Given the description of an element on the screen output the (x, y) to click on. 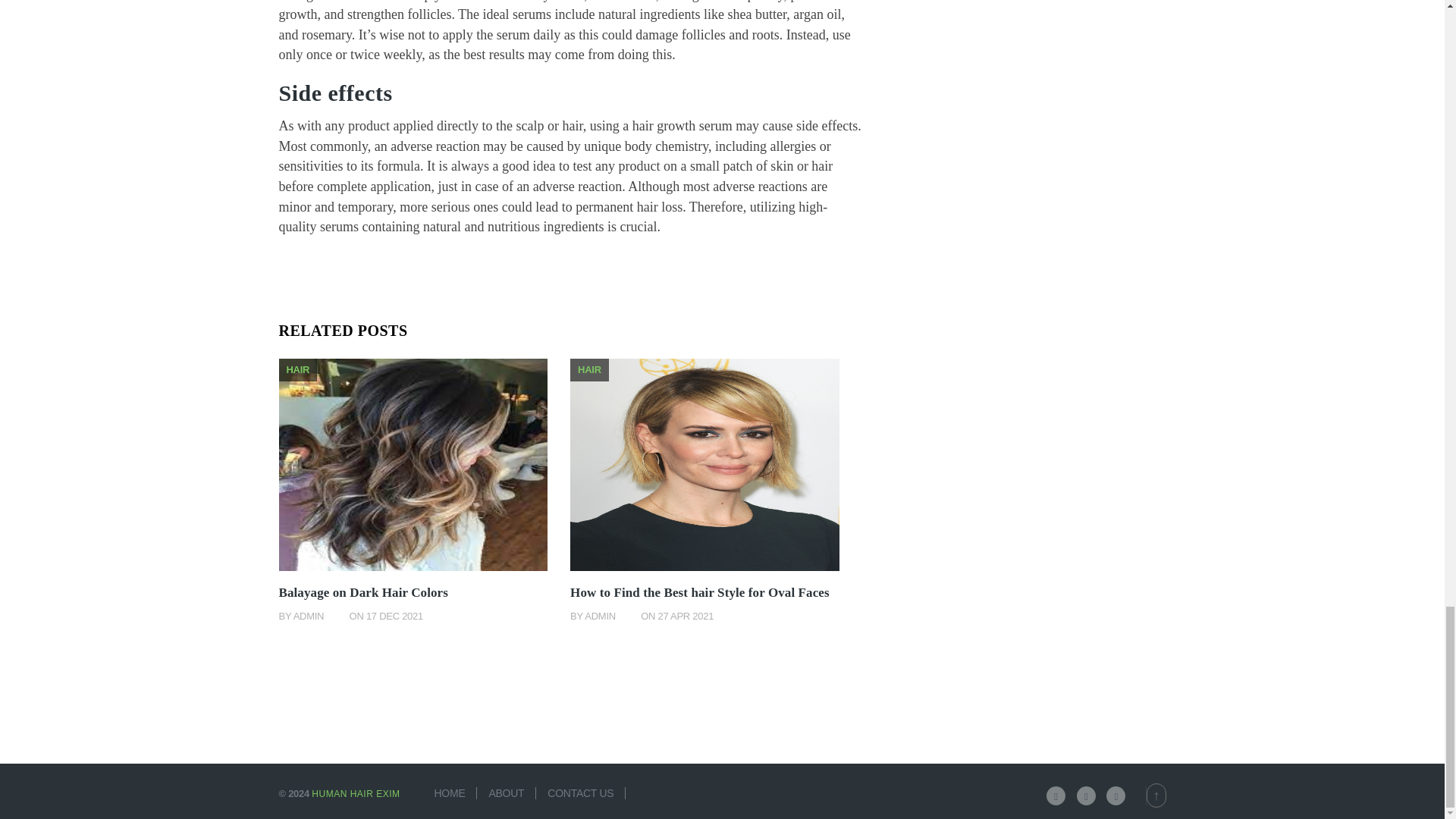
Balayage on Dark Hair Colors (363, 592)
How to Find the Best hair Style for Oval Faces (699, 592)
ADMIN (600, 615)
ADMIN (309, 615)
HAIR (298, 369)
HAIR (589, 369)
